Given the description of an element on the screen output the (x, y) to click on. 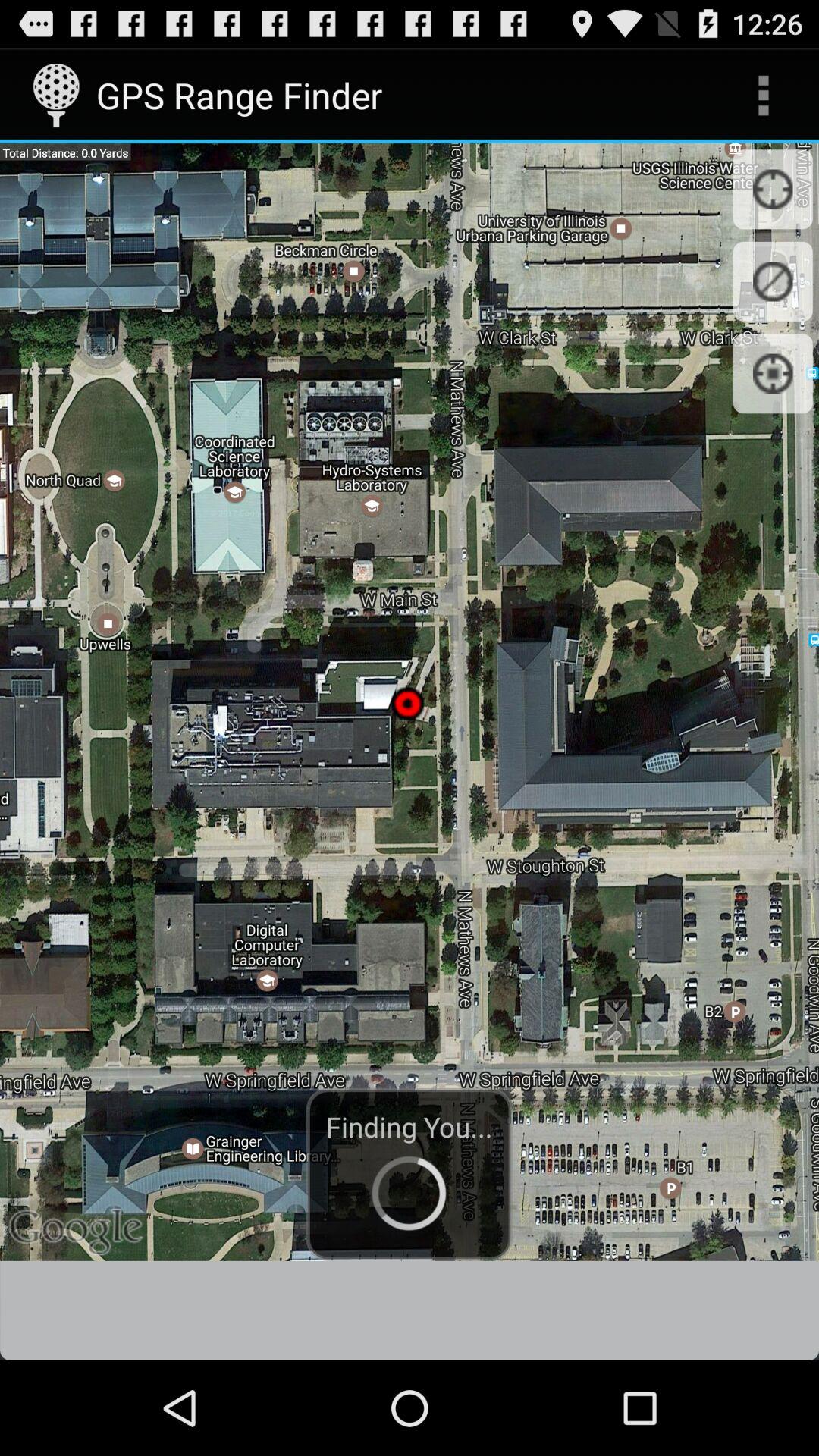
tap the app next to gps range finder icon (763, 95)
